Given the description of an element on the screen output the (x, y) to click on. 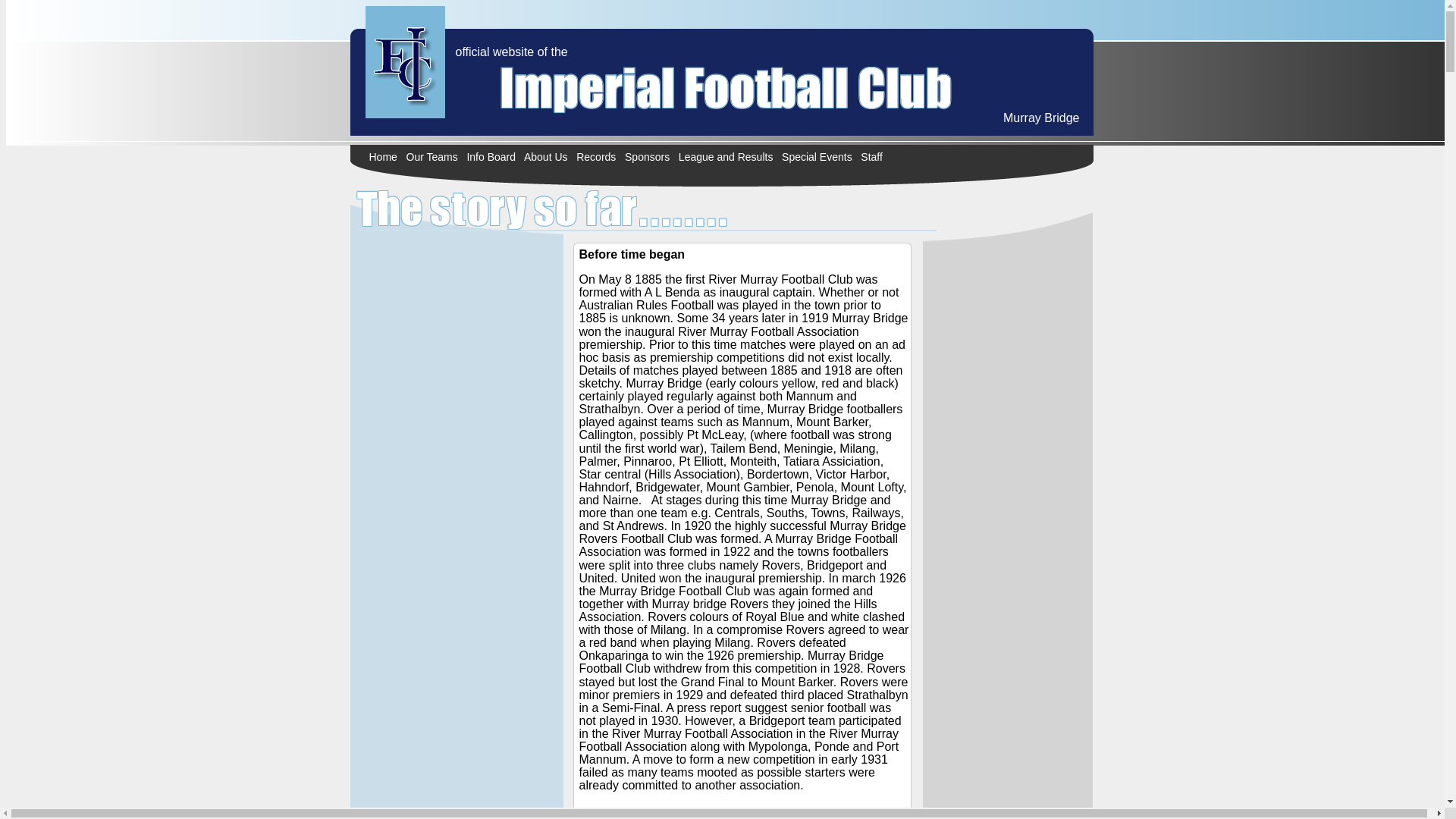
Home Element type: text (382, 156)
About Us Element type: text (545, 156)
Imperial Football Club Murray Bridge Element type: hover (405, 66)
